Given the description of an element on the screen output the (x, y) to click on. 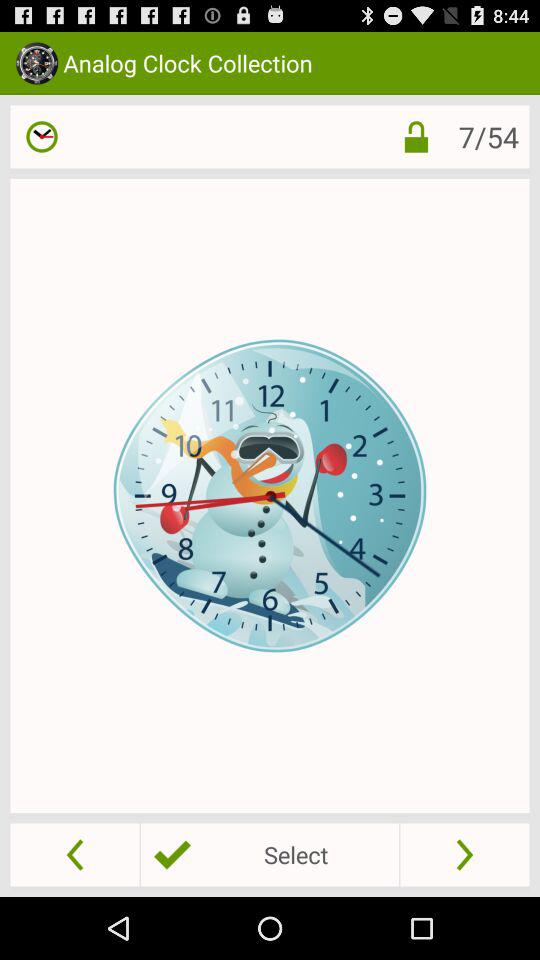
turn off the item to the left of 7/54 icon (416, 136)
